Given the description of an element on the screen output the (x, y) to click on. 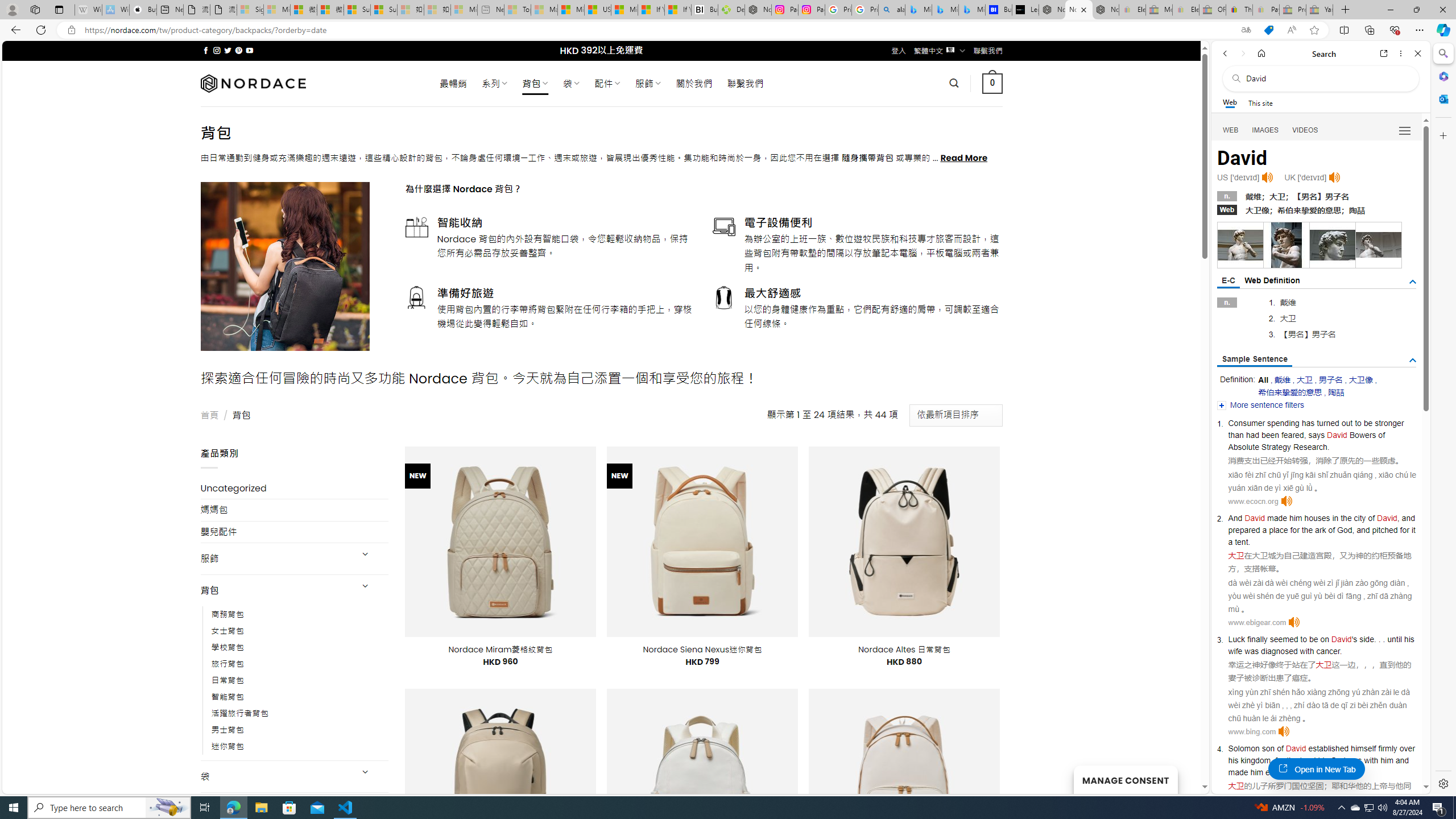
alabama high school quarterback dies - Search (891, 9)
Marine life - MSN - Sleeping (543, 9)
great (1317, 772)
www.bing.com (1251, 731)
